Given the description of an element on the screen output the (x, y) to click on. 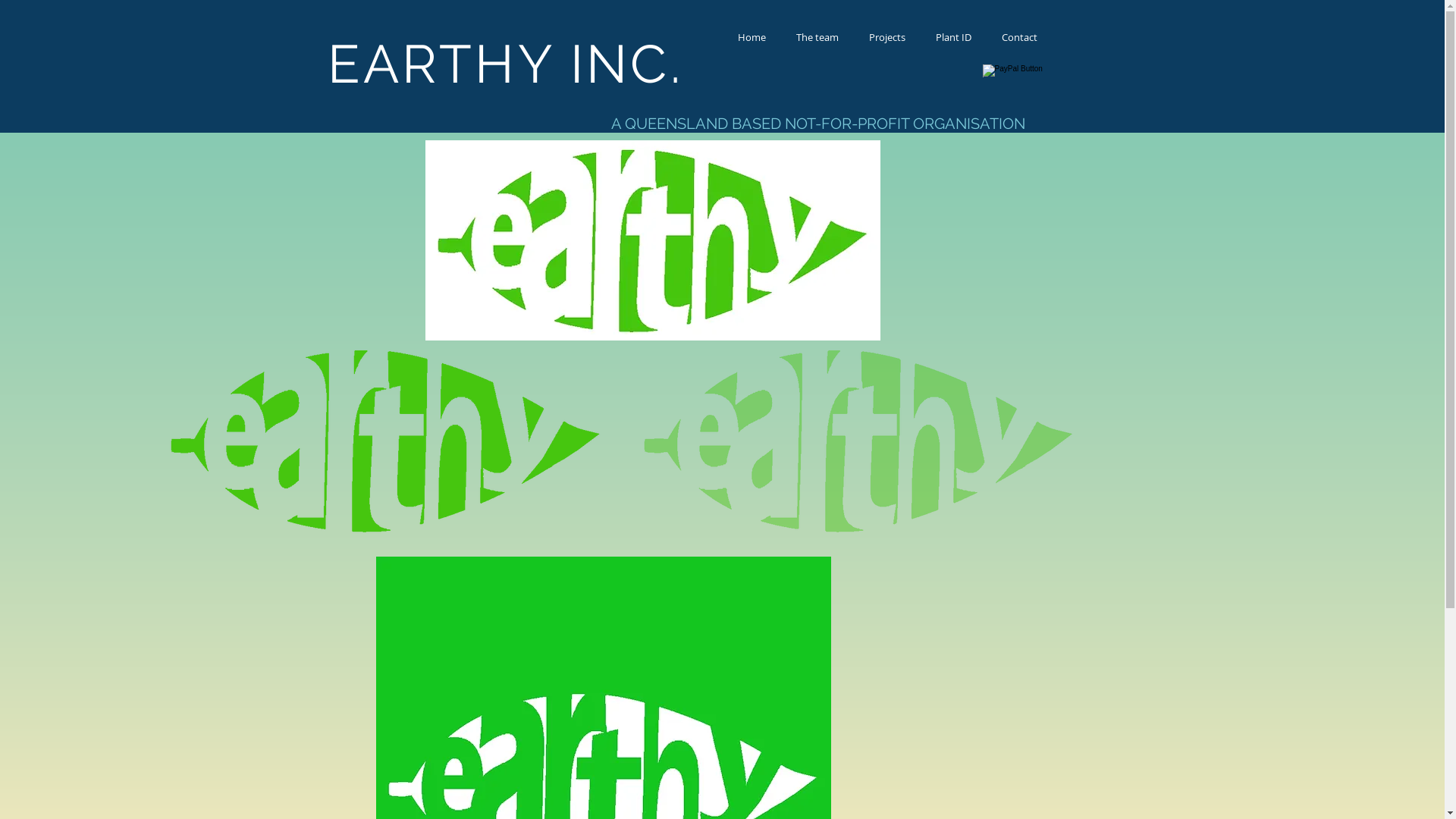
The team Element type: text (817, 37)
Projects Element type: text (886, 37)
Contact Element type: text (1018, 37)
EARTHY INC. Element type: text (505, 63)
Plant ID Element type: text (953, 37)
Home Element type: text (750, 37)
